Given the description of an element on the screen output the (x, y) to click on. 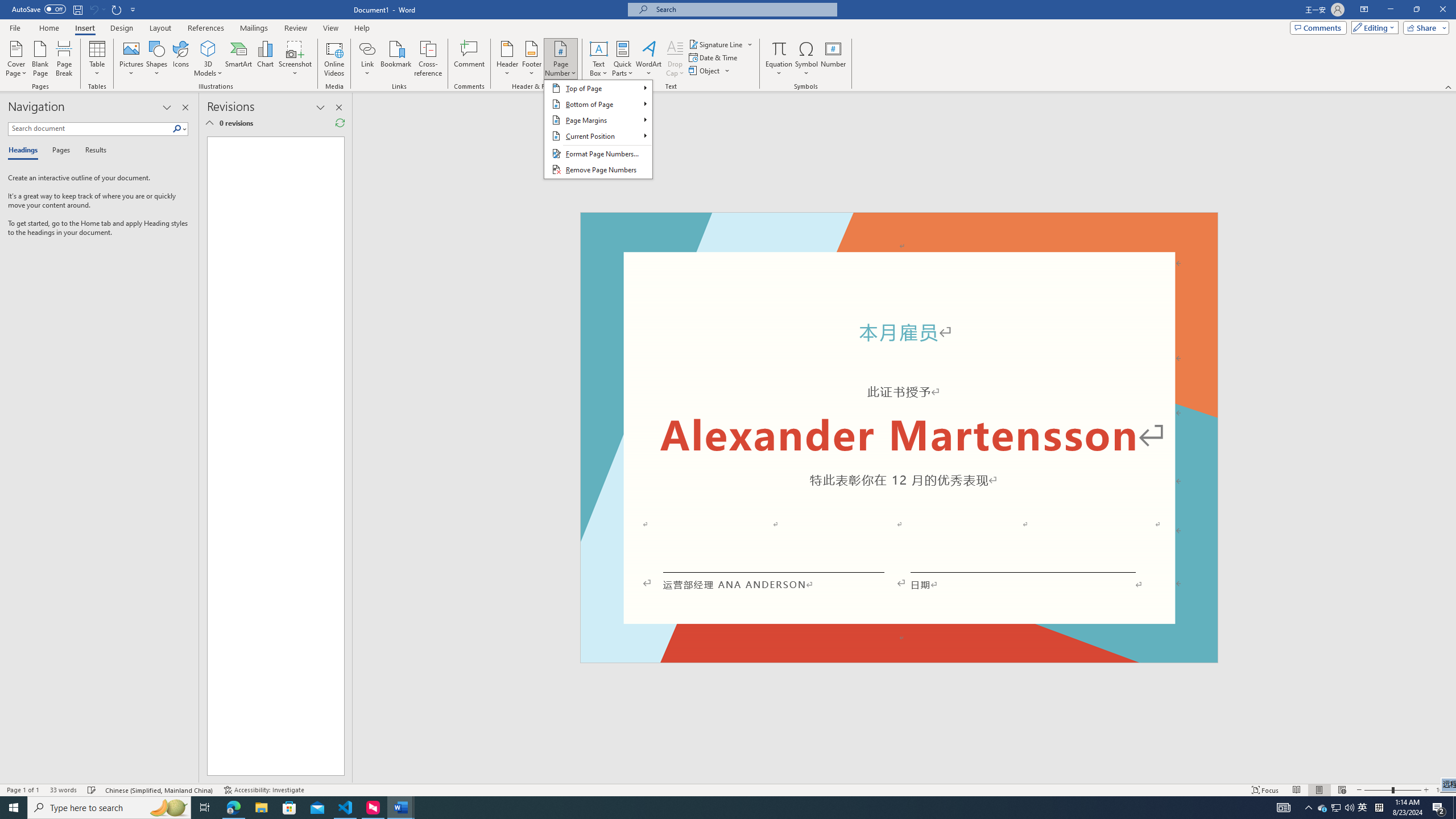
Equation (778, 48)
Decorative (1335, 807)
Task View (898, 437)
3D Models (204, 807)
Page Number (208, 58)
Page Break (597, 129)
SmartArt... (63, 58)
Link (238, 58)
Screenshot (367, 48)
